Given the description of an element on the screen output the (x, y) to click on. 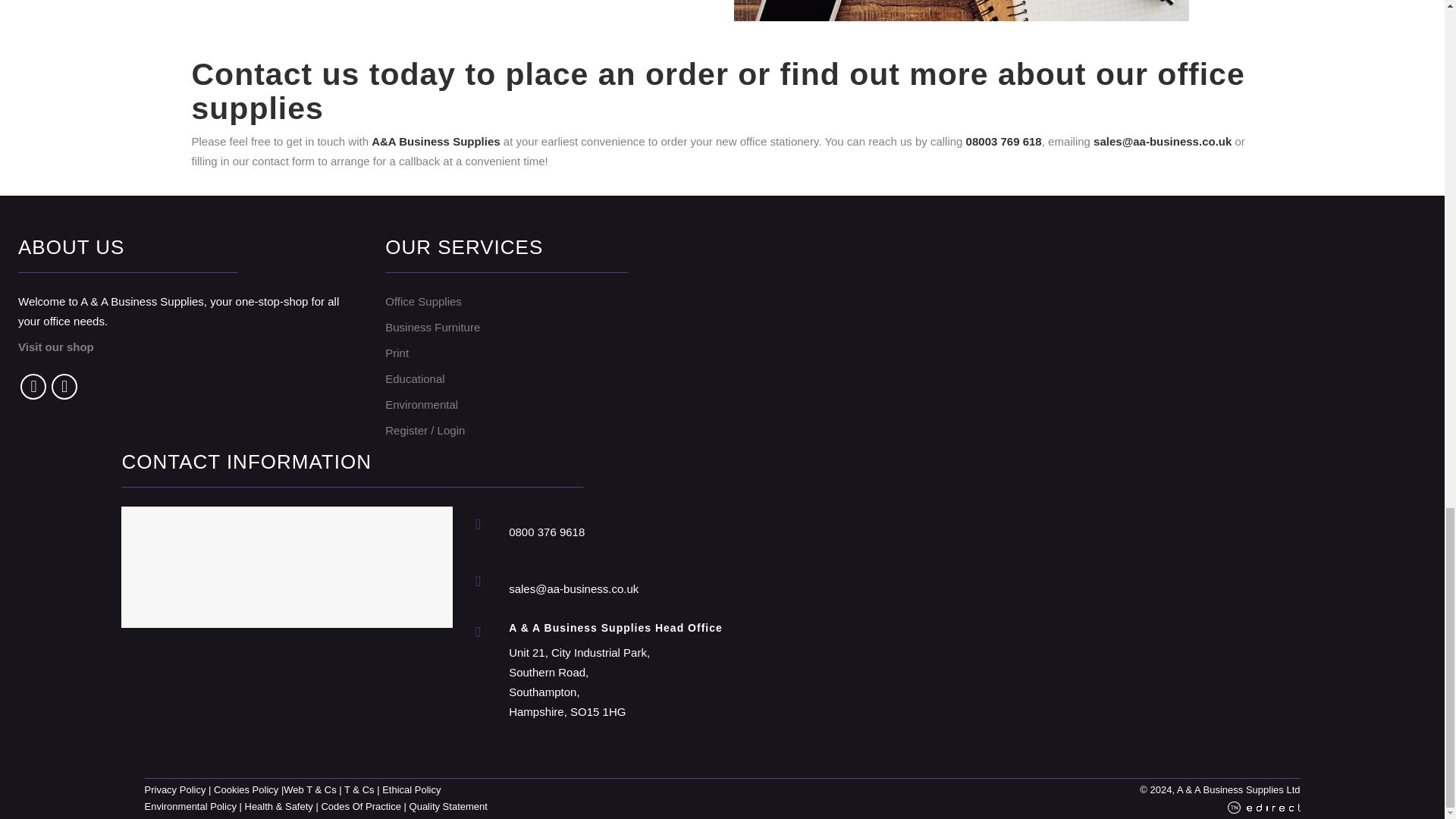
Office Stationery (961, 10)
